Given the description of an element on the screen output the (x, y) to click on. 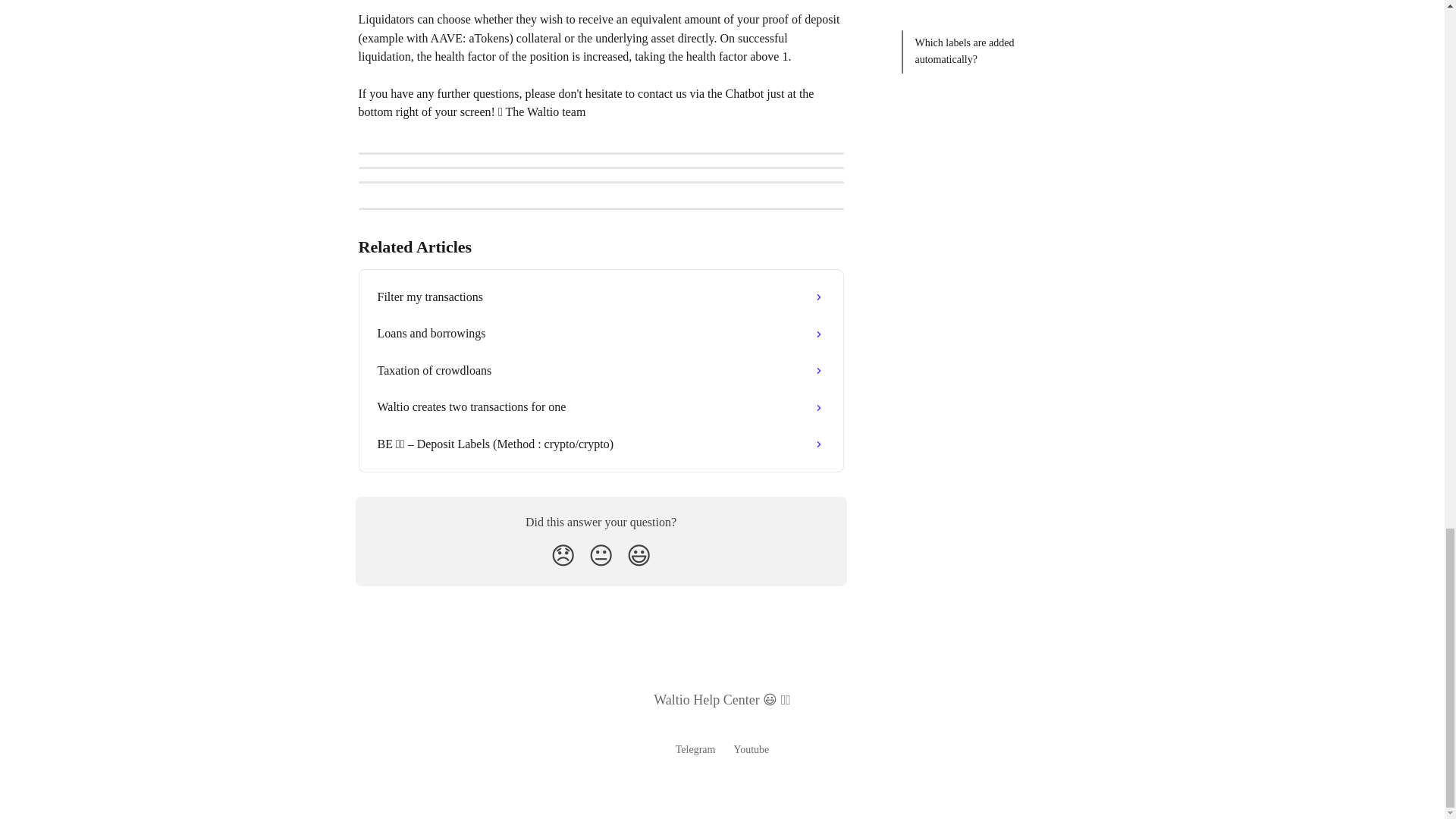
Taxation of crowdloans (601, 370)
Waltio creates two transactions for one (601, 407)
Telegram (695, 749)
Smiley (638, 555)
Youtube (750, 749)
Loans and borrowings (601, 333)
Neutral (600, 555)
Disappointed (562, 555)
Filter my transactions (601, 297)
